Given the description of an element on the screen output the (x, y) to click on. 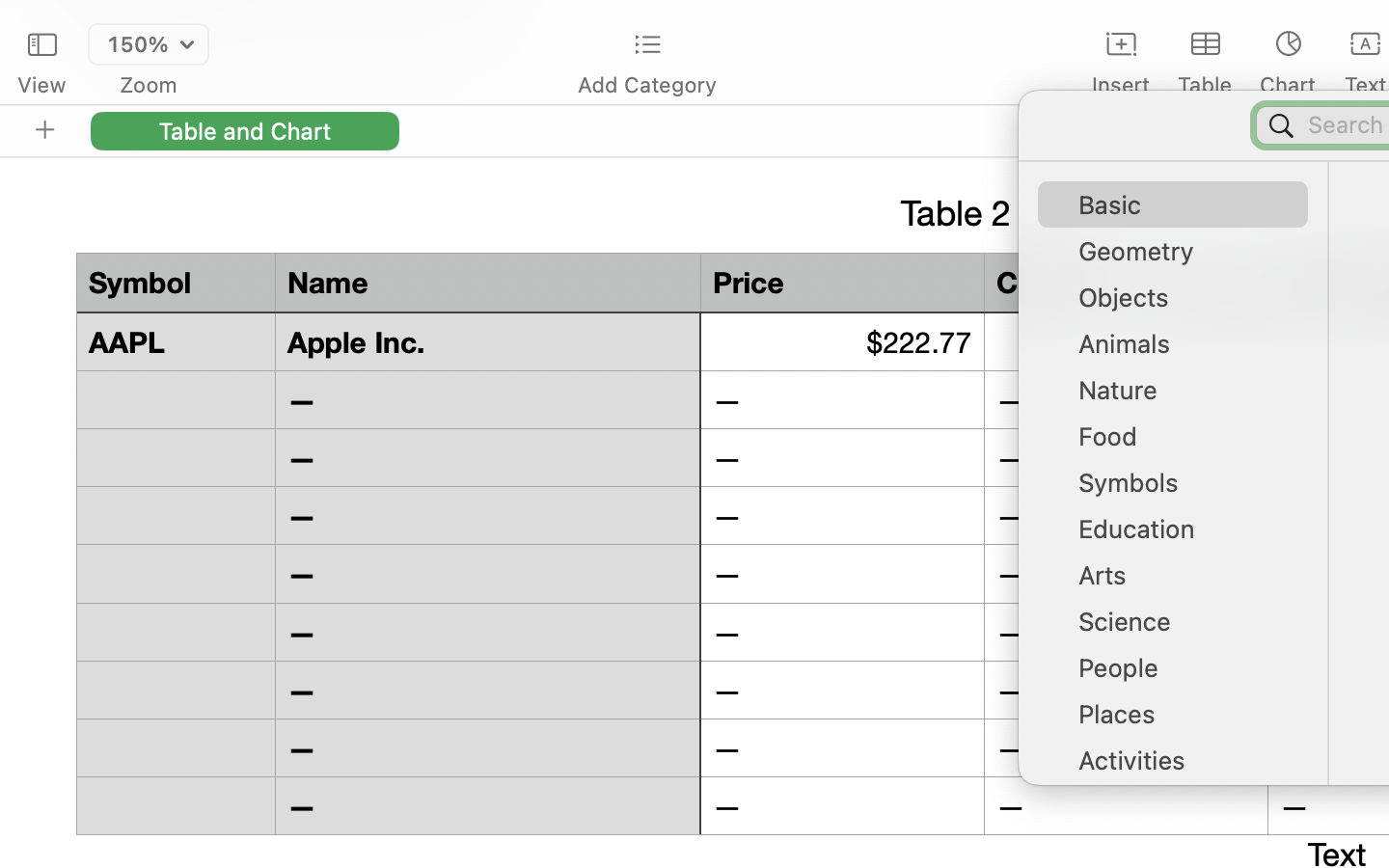
Objects Element type: AXStaticText (1182, 304)
Arts Element type: AXStaticText (1182, 582)
Transportation Element type: AXStaticText (1182, 813)
Basic Element type: AXStaticText (1182, 212)
Places Element type: AXStaticText (1182, 721)
